Given the description of an element on the screen output the (x, y) to click on. 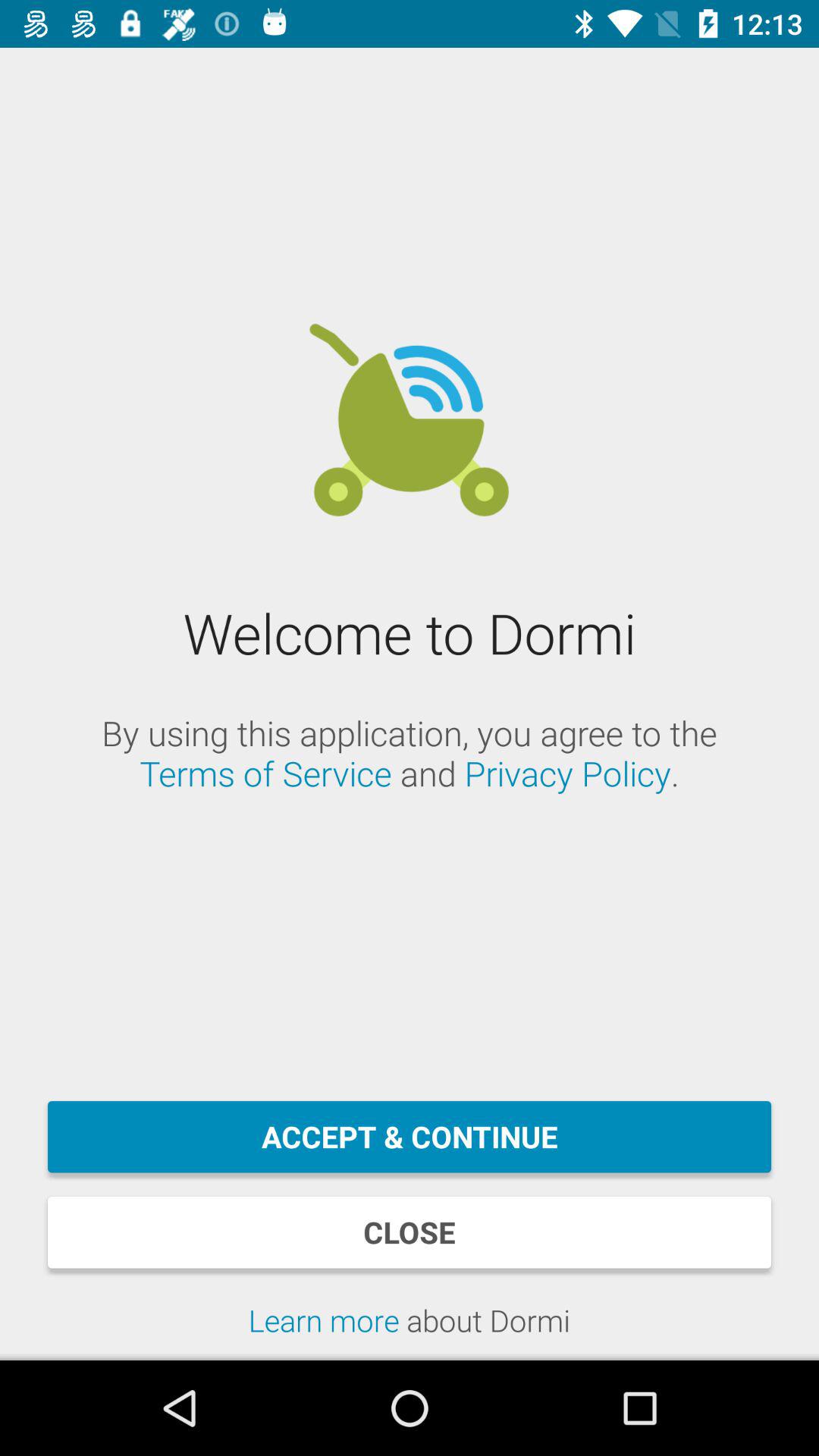
swipe to the close icon (409, 1232)
